Given the description of an element on the screen output the (x, y) to click on. 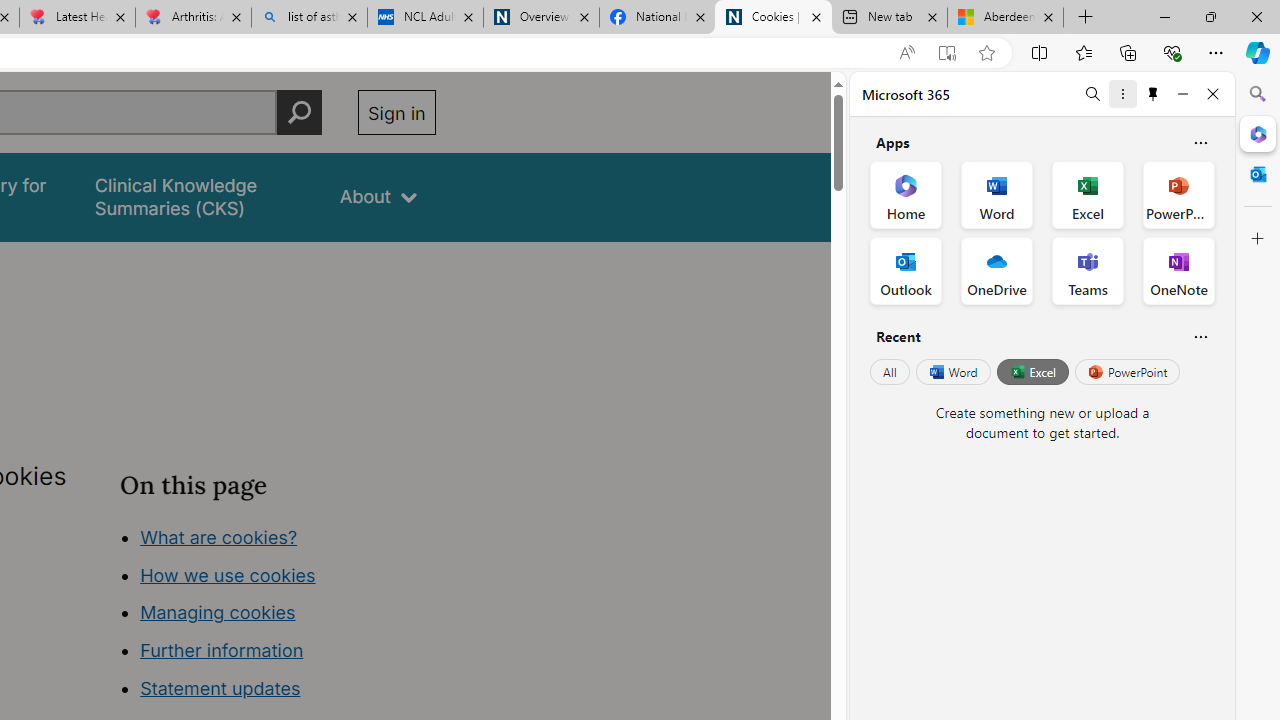
Arthritis: Ask Health Professionals (192, 17)
list of asthma inhalers uk - Search (309, 17)
Excel (1031, 372)
Excel Office App (1087, 194)
Class: in-page-nav__list (277, 615)
How we use cookies (227, 574)
false (198, 196)
